Given the description of an element on the screen output the (x, y) to click on. 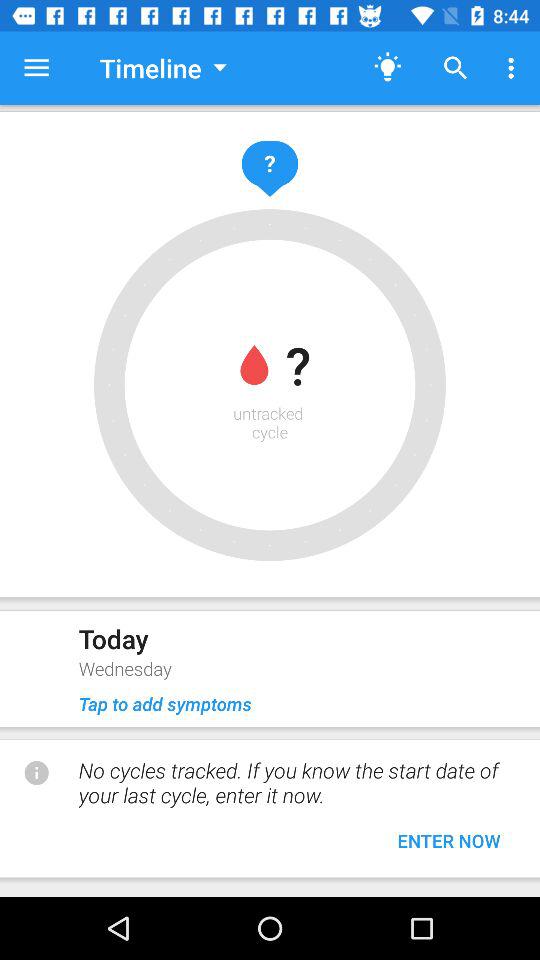
click the icon right to search icon (514, 68)
click on the enter now button at the bottom of the page (448, 840)
click on the button which is left side of the bulb (163, 68)
click on the light icon at the top of the page (387, 68)
